Given the description of an element on the screen output the (x, y) to click on. 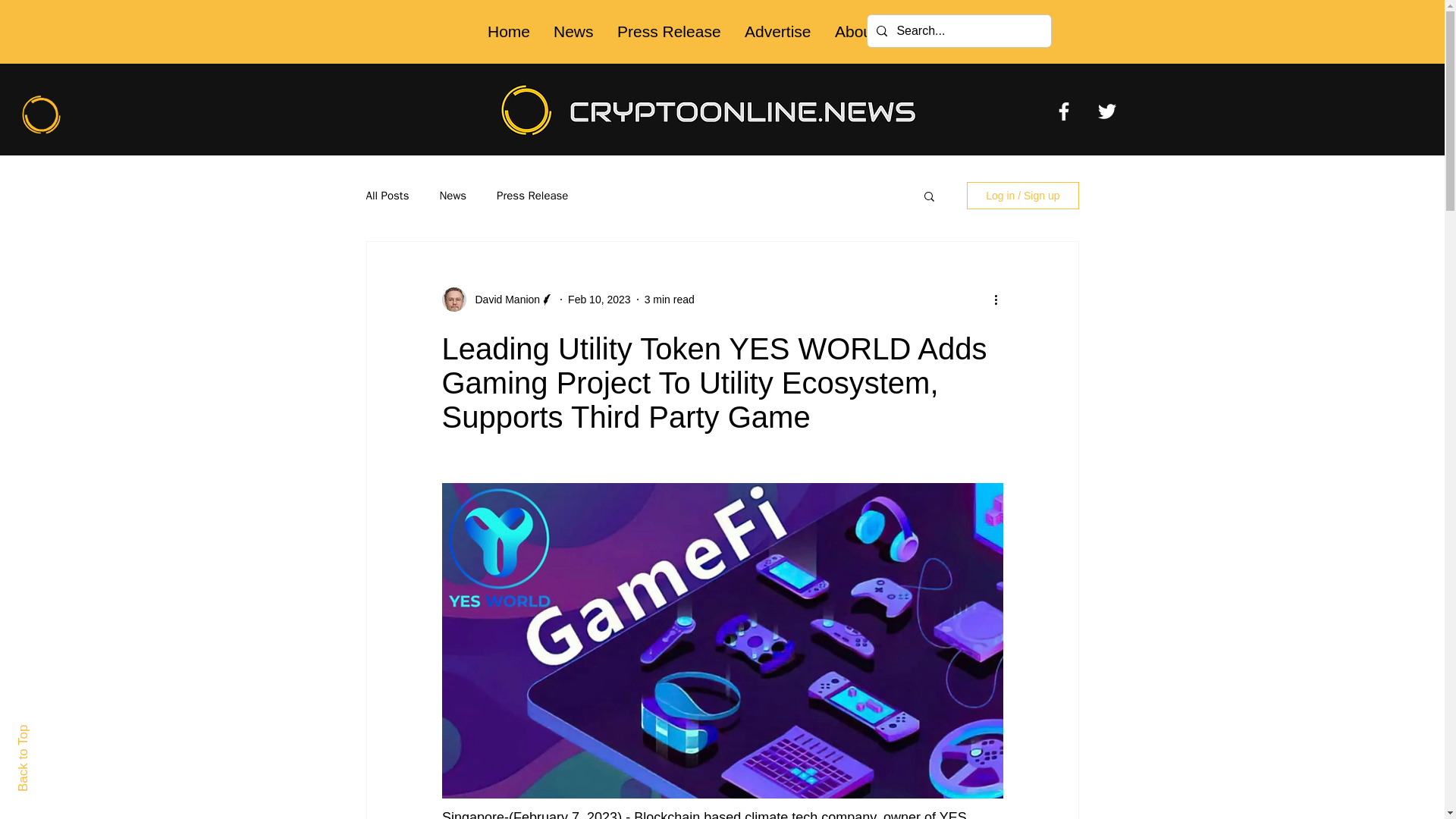
Press Release (668, 31)
Advertise (777, 31)
Press Release (531, 195)
All Posts (387, 195)
Home (508, 31)
David Manion (502, 299)
News (452, 195)
Back to Top (49, 730)
About (855, 31)
3 min read (669, 298)
News (573, 31)
Feb 10, 2023 (598, 298)
